Given the description of an element on the screen output the (x, y) to click on. 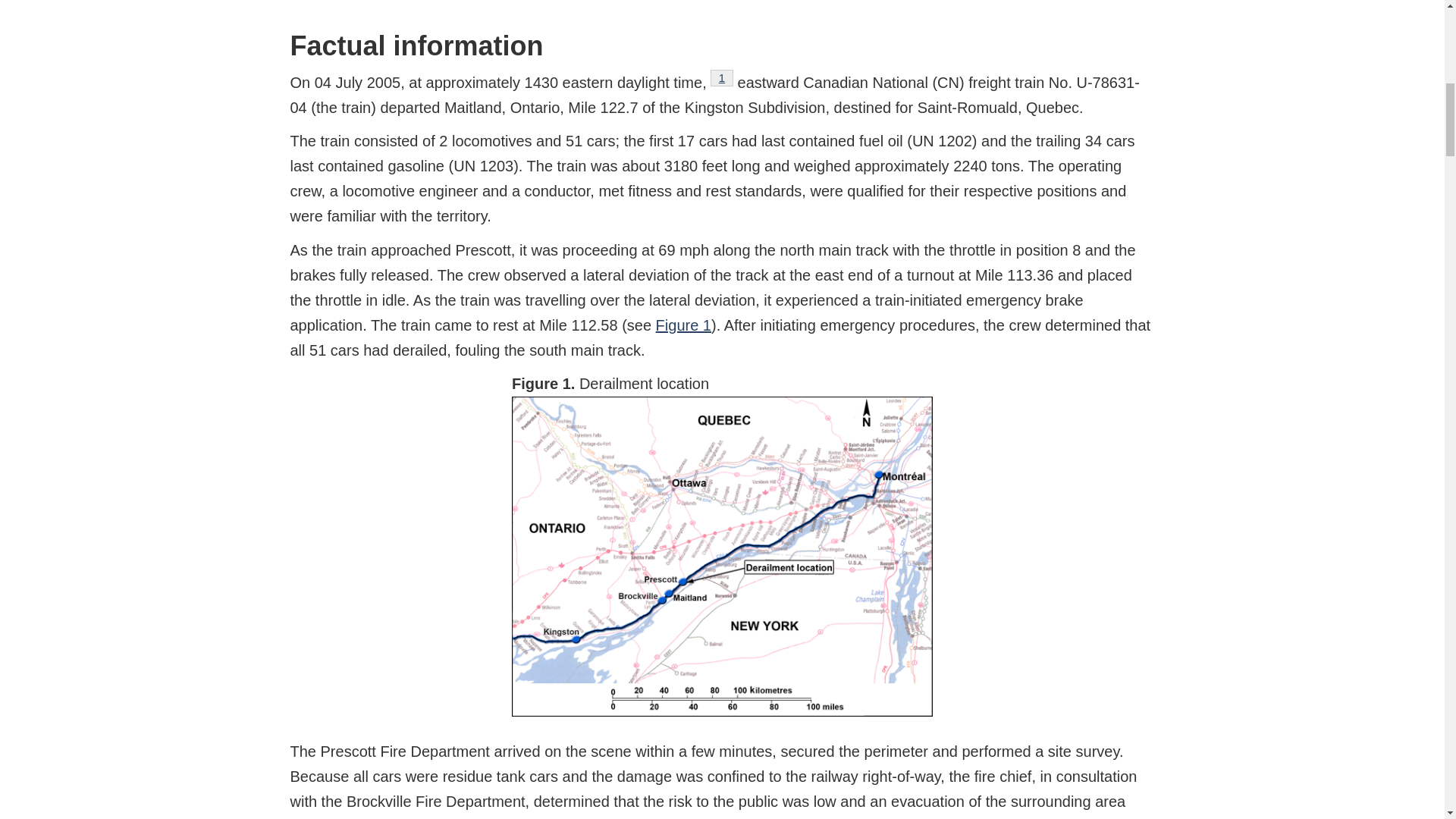
Figure 1 (683, 324)
Figure 1. Derailment location (721, 77)
